Given the description of an element on the screen output the (x, y) to click on. 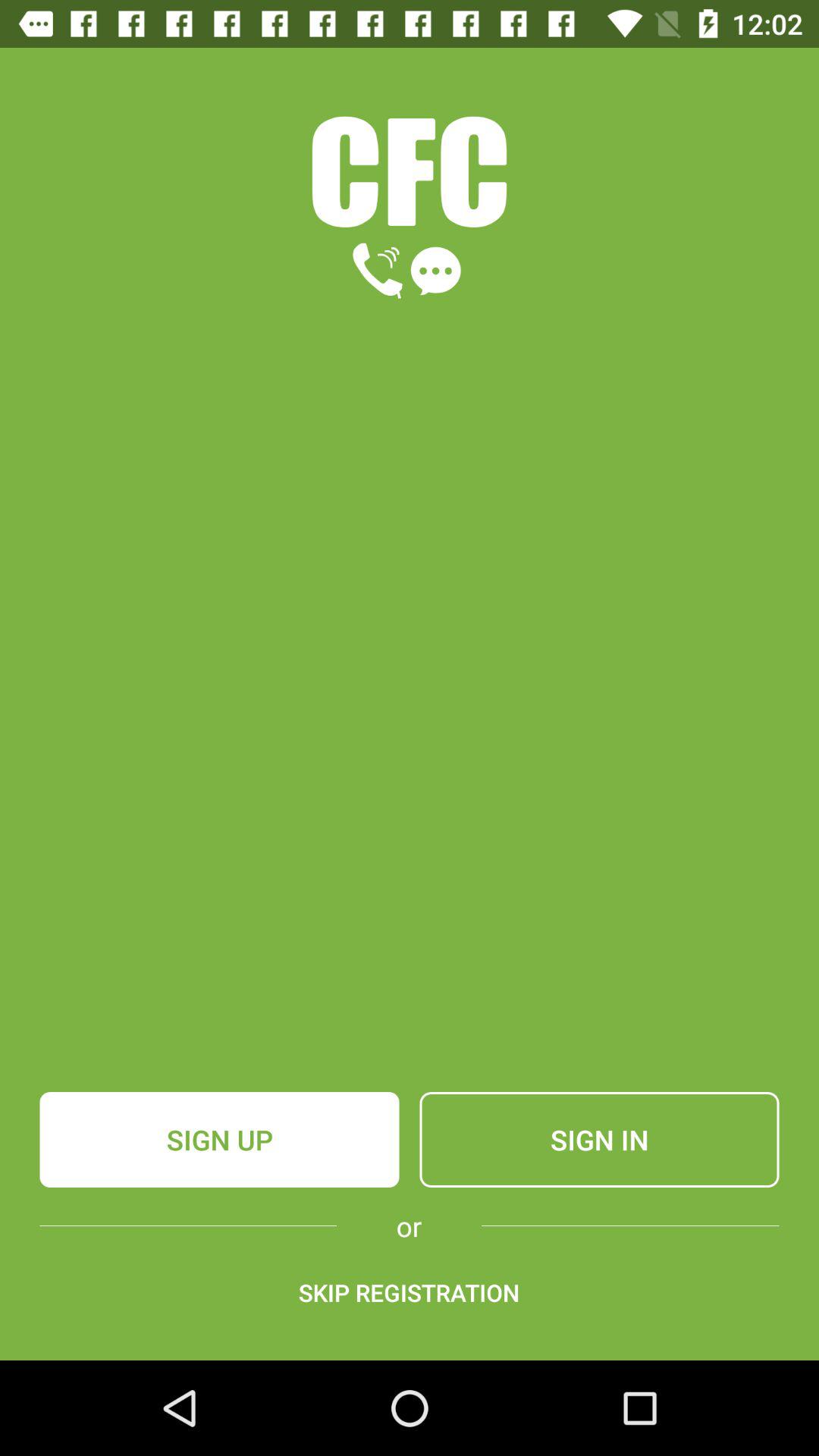
choose the icon above or icon (599, 1139)
